Given the description of an element on the screen output the (x, y) to click on. 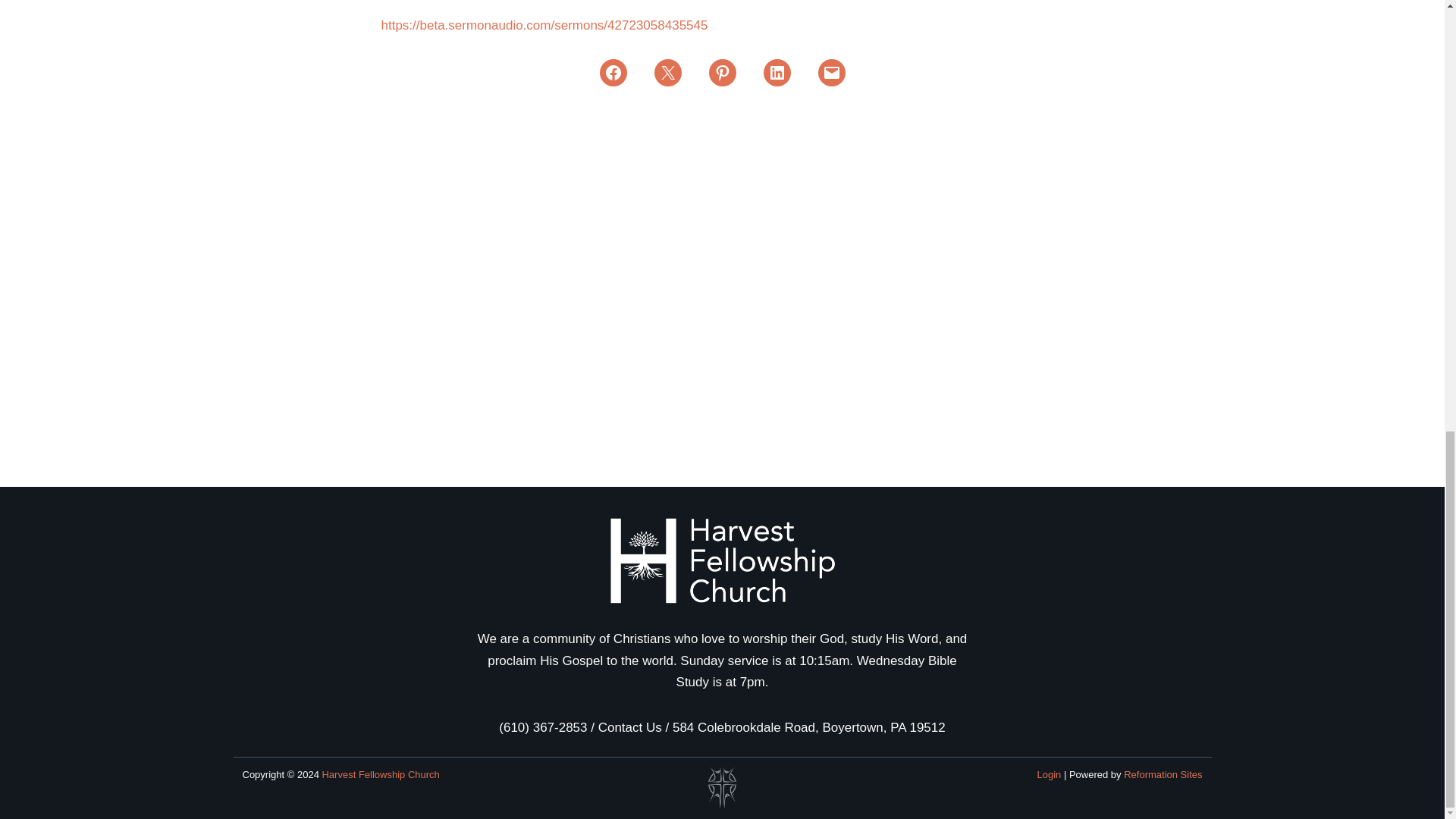
Share on Facebook (612, 72)
Share on Pinterest (721, 72)
Email this Page (667, 72)
